Given the description of an element on the screen output the (x, y) to click on. 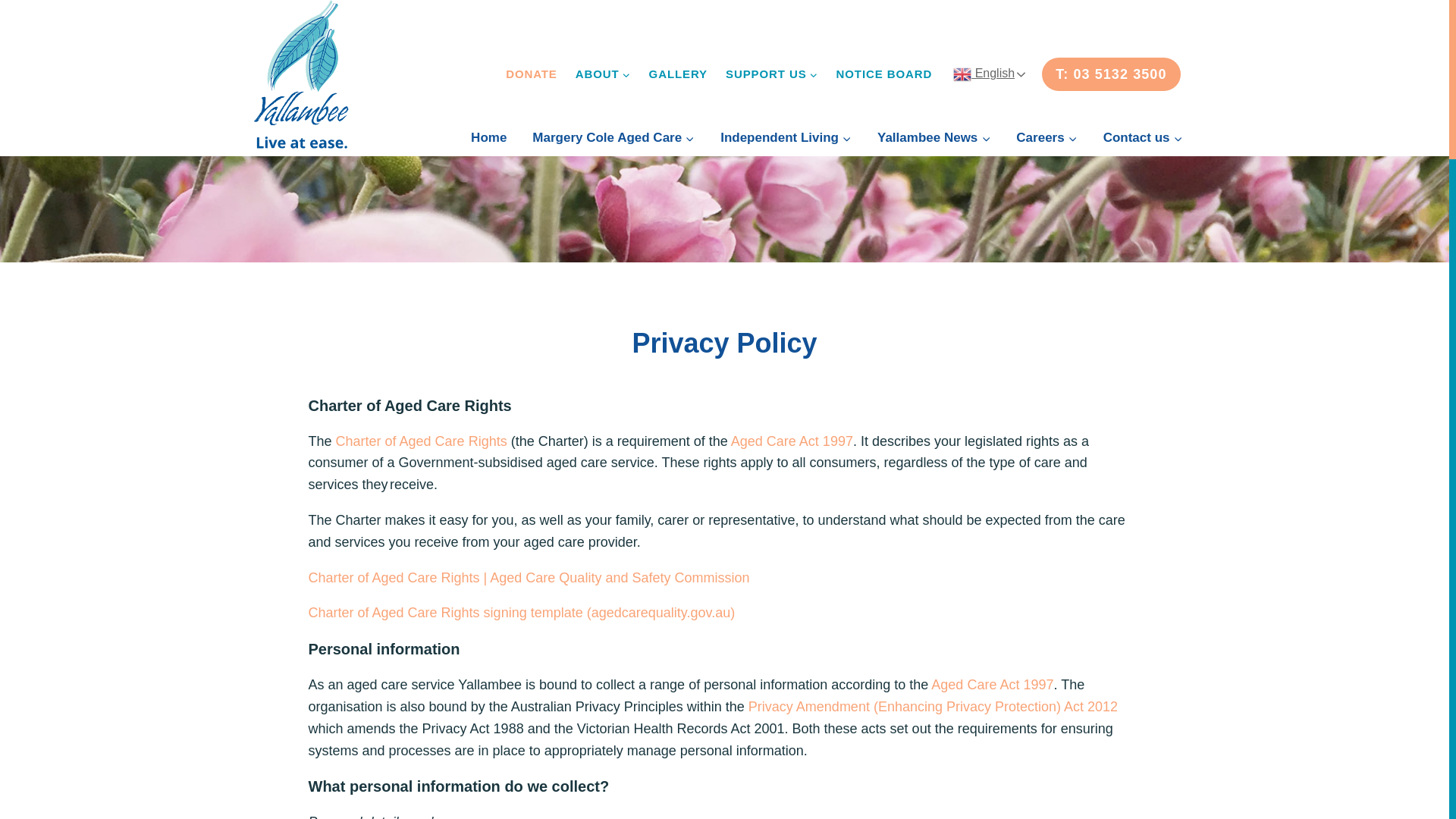
ABOUT (603, 74)
Home (488, 137)
T: 03 5132 3500 (1110, 73)
Margery Cole Aged Care (613, 137)
SUPPORT US (771, 74)
DONATE (531, 74)
Independent Living (785, 137)
English (1014, 74)
GALLERY (678, 74)
NOTICE BOARD (884, 74)
